Given the description of an element on the screen output the (x, y) to click on. 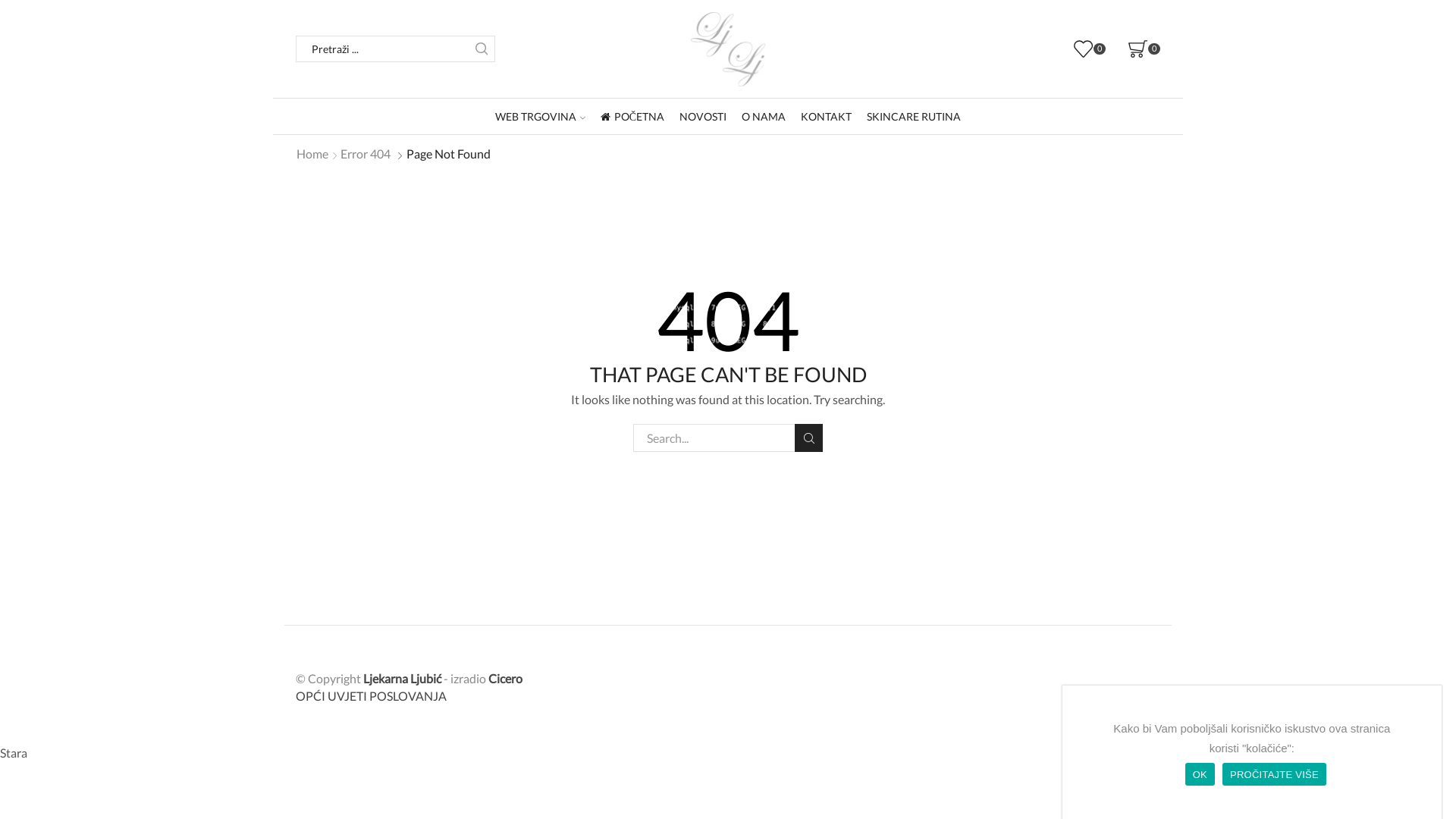
KONTAKT Element type: text (825, 116)
NOVOSTI Element type: text (702, 116)
0 Element type: text (1089, 48)
OK Element type: text (1199, 773)
Cicero Element type: text (505, 678)
SEARCH Element type: text (808, 437)
WEB TRGOVINA Element type: text (540, 116)
O NAMA Element type: text (763, 116)
0 Element type: text (1144, 48)
SKINCARE RUTINA Element type: text (913, 116)
Home Element type: text (312, 154)
